Given the description of an element on the screen output the (x, y) to click on. 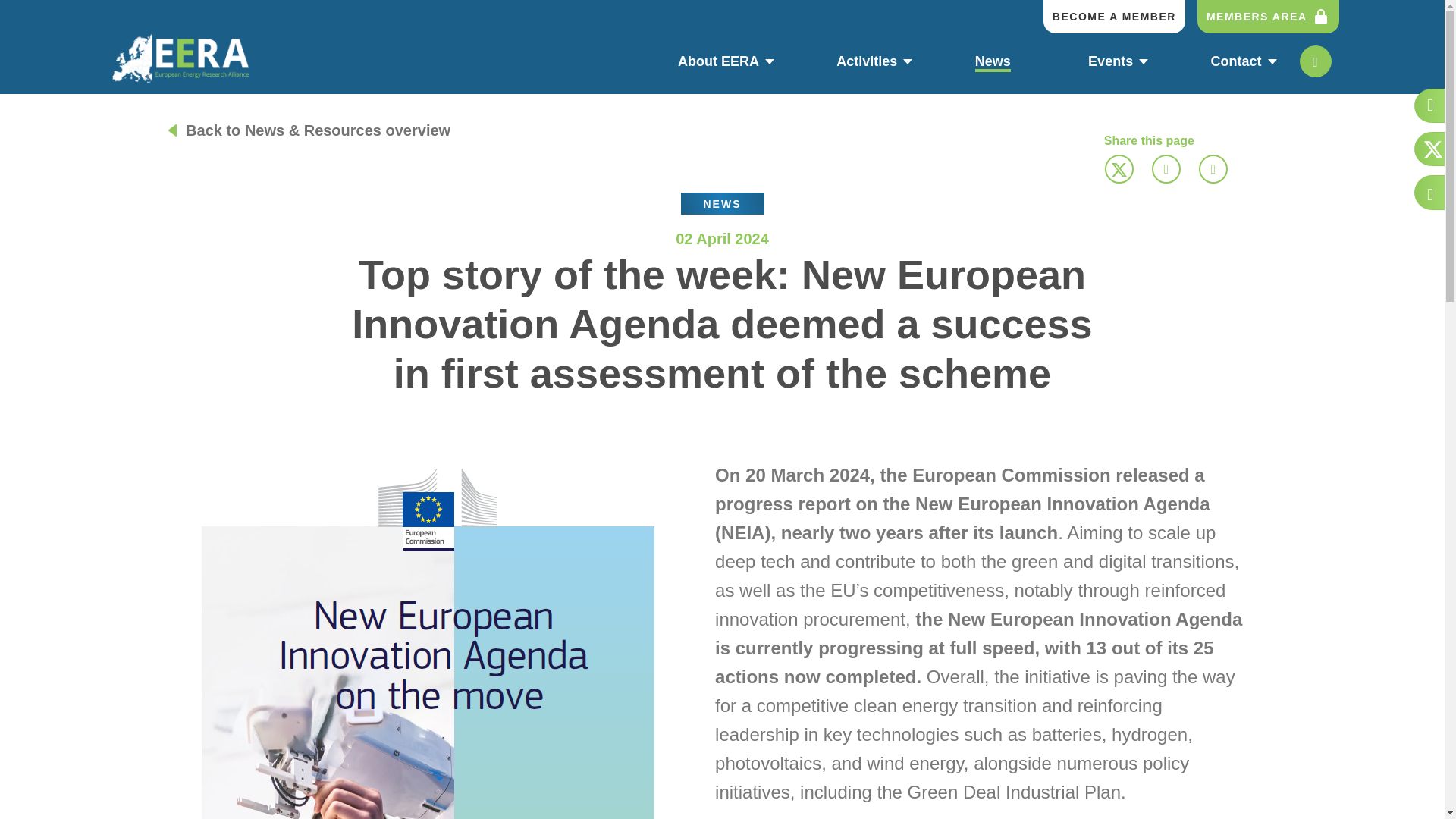
Events (1114, 61)
MEMBERS AREA (1267, 16)
About EERA (721, 61)
Contact (1239, 61)
Activities (870, 61)
News (827, 61)
BECOME A MEMBER (996, 61)
